Given the description of an element on the screen output the (x, y) to click on. 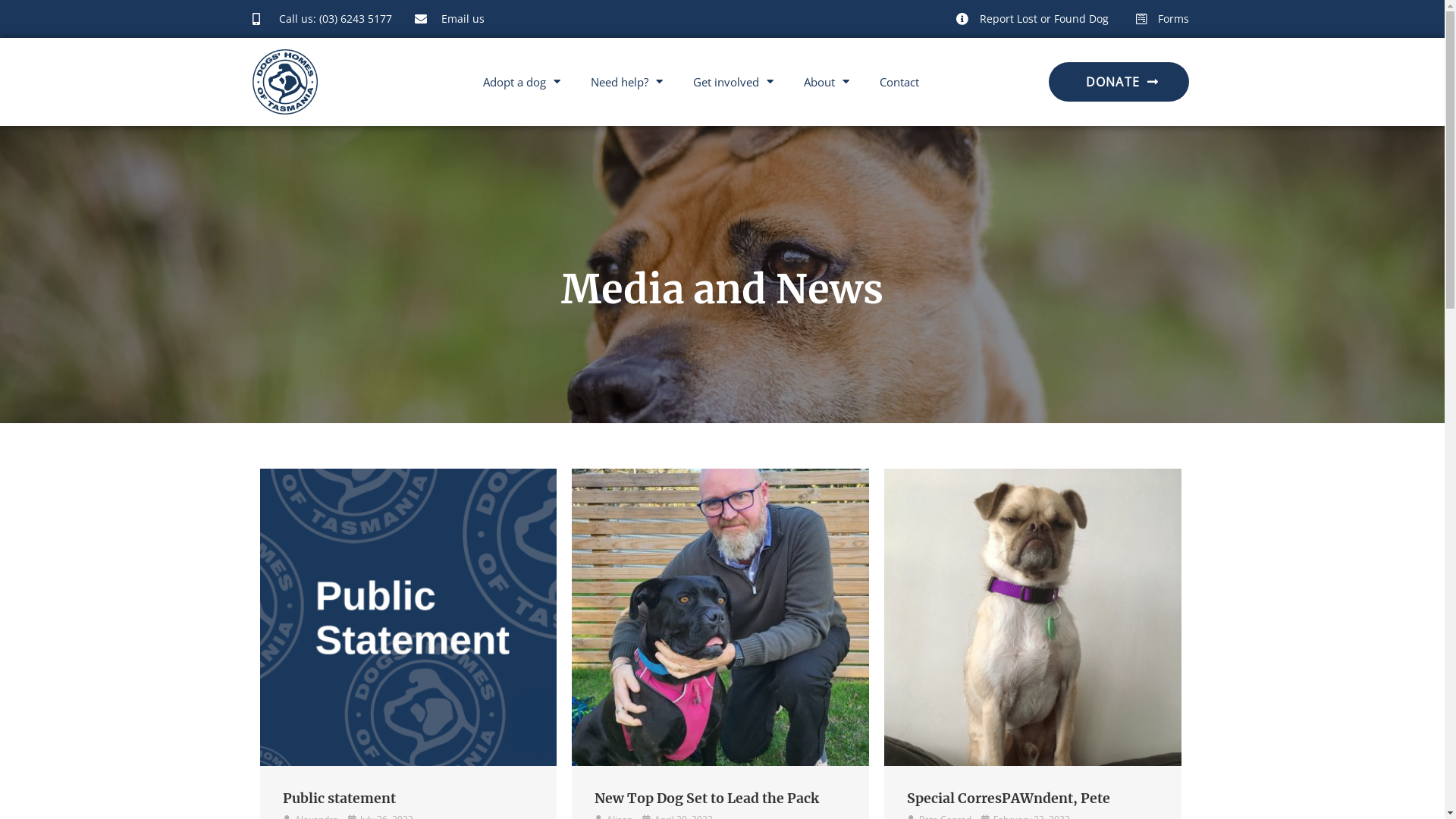
Public statement Element type: hover (407, 615)
Need help? Element type: text (626, 81)
New Top Dog Set to Lead the Pack Element type: text (706, 798)
Forms Element type: text (1160, 18)
Contact Element type: text (899, 81)
Special CorresPAWndent, Pete Element type: text (1008, 798)
Call us: (03) 6243 5177 Element type: text (321, 18)
Get involved Element type: text (733, 81)
Mark Element type: hover (720, 616)
Report Lost or Found Dog Element type: text (1030, 18)
Special CorresPAWndent, Pete Element type: hover (1032, 615)
Email us Element type: text (448, 18)
About Element type: text (826, 81)
Adopt a dog Element type: text (521, 81)
New Top Dog Set to Lead the Pack Element type: hover (720, 615)
Public statement Element type: text (338, 798)
2 Element type: hover (1032, 616)
DONATE Element type: text (1118, 81)
Public statement Element type: hover (407, 616)
